Given the description of an element on the screen output the (x, y) to click on. 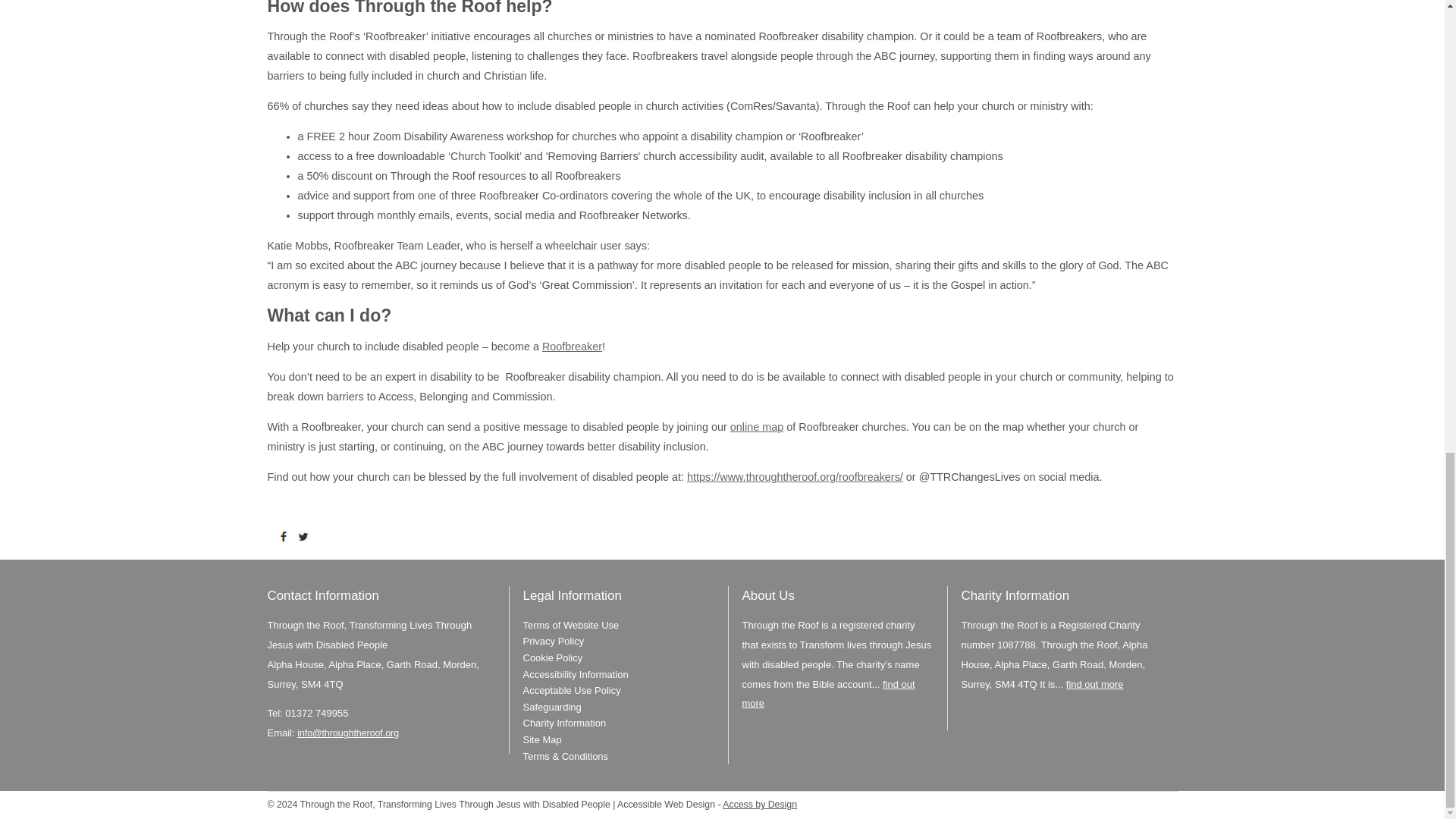
Share on Facebook (286, 536)
